Given the description of an element on the screen output the (x, y) to click on. 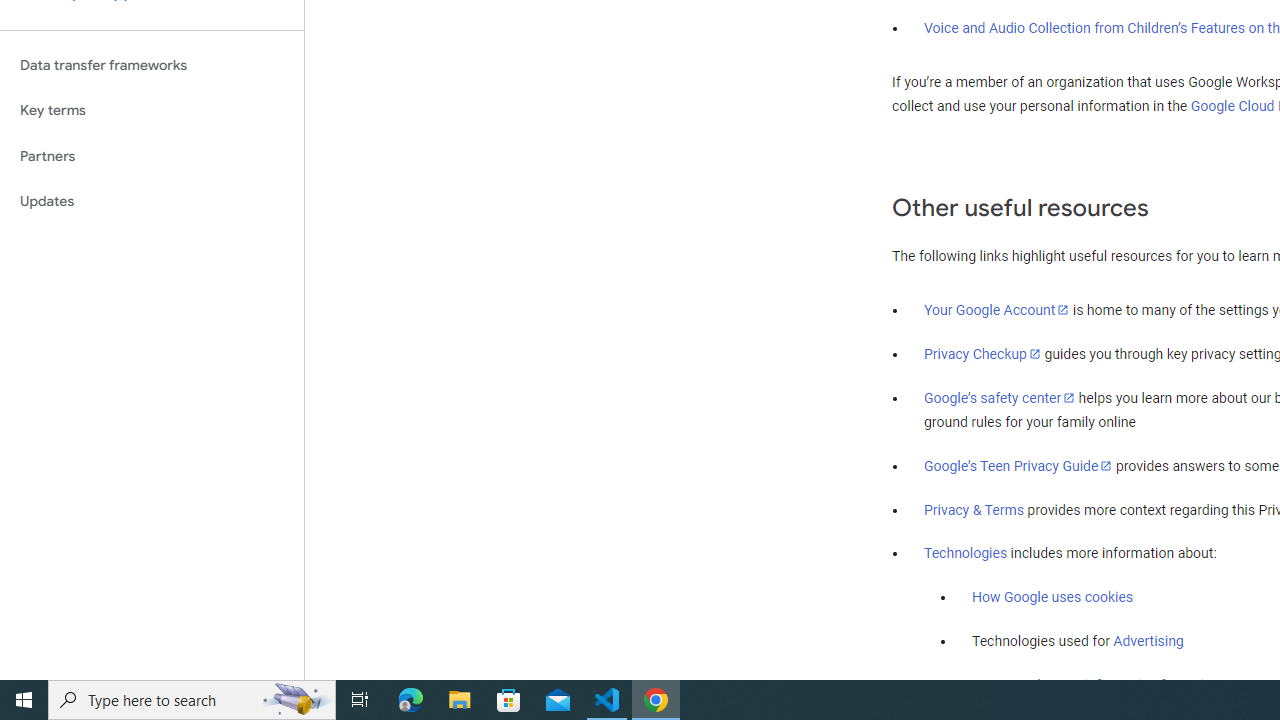
Privacy & Terms (974, 510)
Privacy Checkup (982, 353)
Updates (152, 201)
How Google uses cookies (1052, 597)
Partners (152, 156)
Technologies (966, 554)
Key terms (152, 110)
Advertising (1148, 641)
Your Google Account (997, 309)
Data transfer frameworks (152, 65)
